Given the description of an element on the screen output the (x, y) to click on. 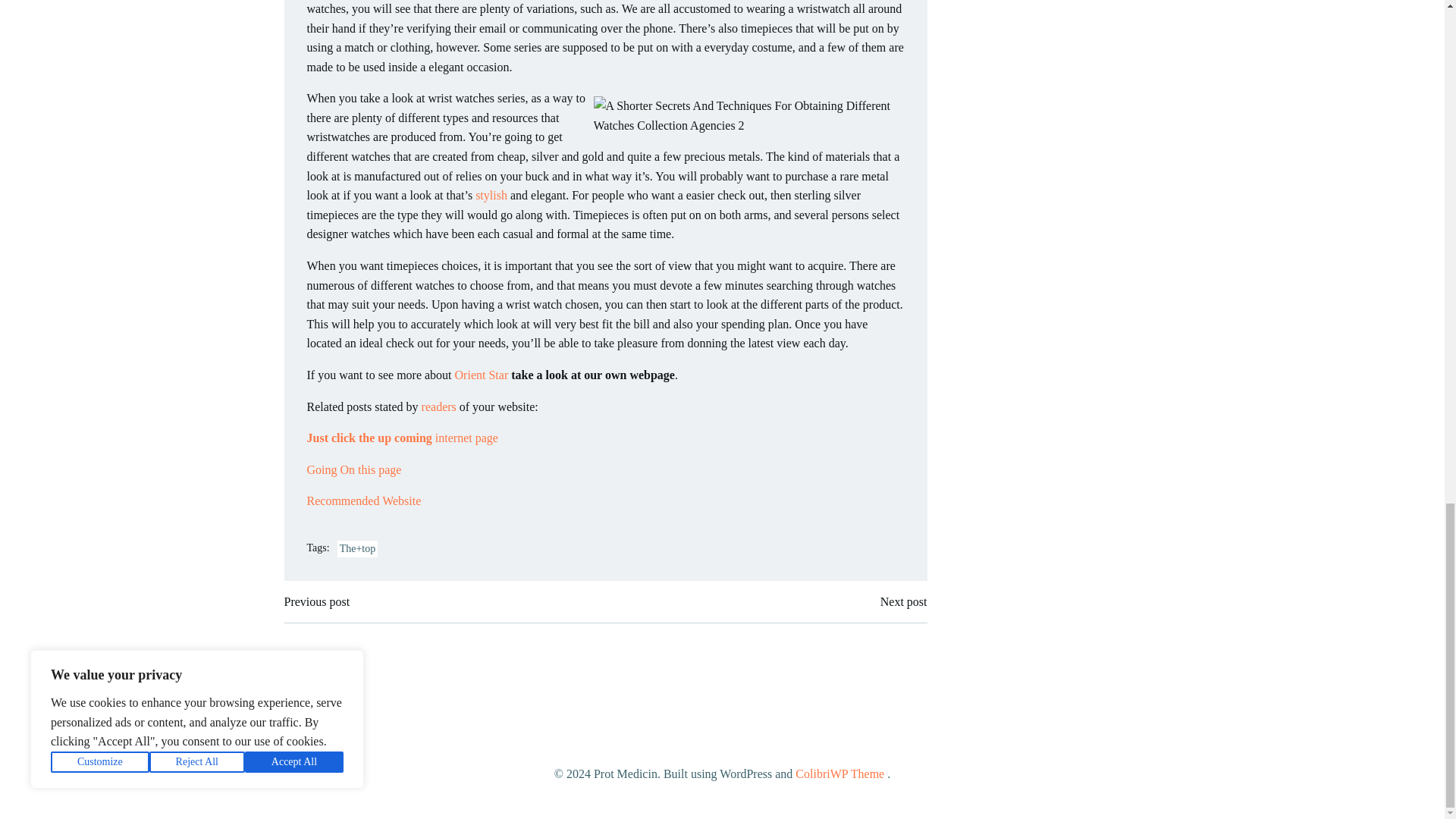
Next post (903, 601)
Recommended Website (362, 500)
Previous post (316, 601)
Orient Star (481, 374)
stylish (491, 195)
readers (439, 406)
Going On this page (353, 469)
Just click the up coming internet page (401, 437)
